Given the description of an element on the screen output the (x, y) to click on. 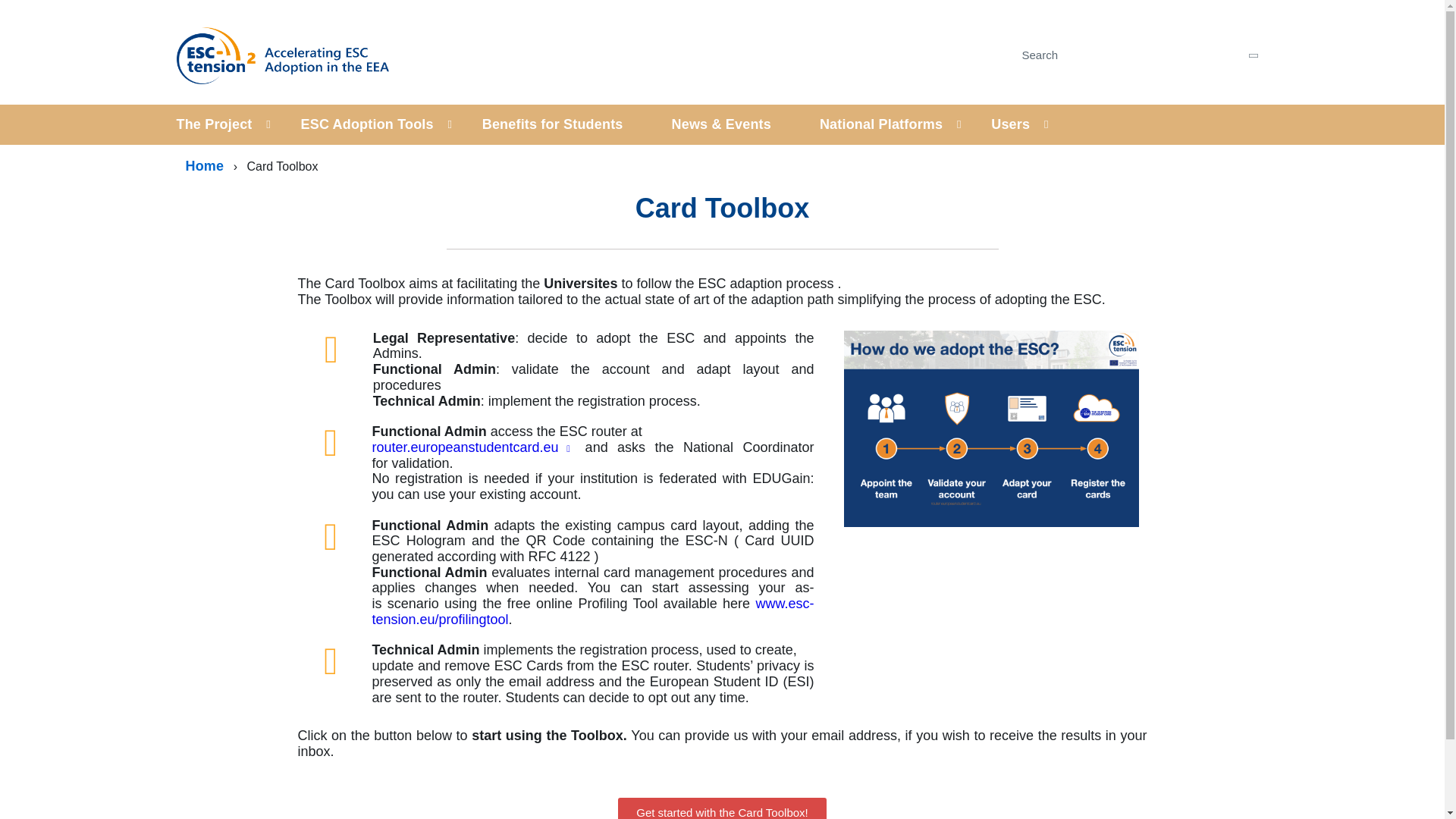
National Platforms (880, 124)
Benefits for Students (552, 124)
ESC Adoption Tools (367, 124)
Users (1010, 124)
The Project (226, 124)
